Given the description of an element on the screen output the (x, y) to click on. 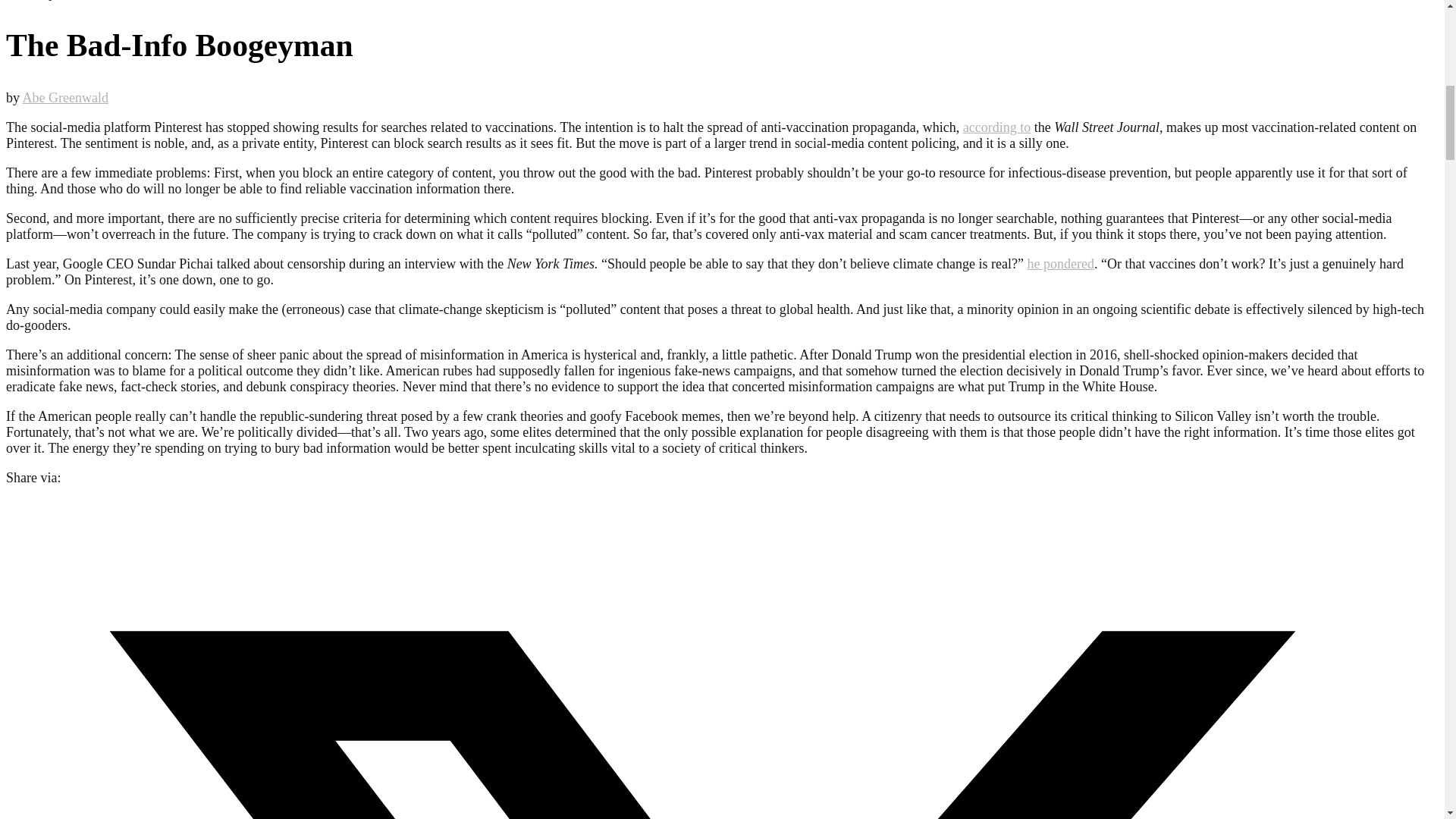
he pondered (1059, 263)
Posts by Abe Greenwald (65, 97)
Abe Greenwald (65, 97)
according to (996, 127)
